Given the description of an element on the screen output the (x, y) to click on. 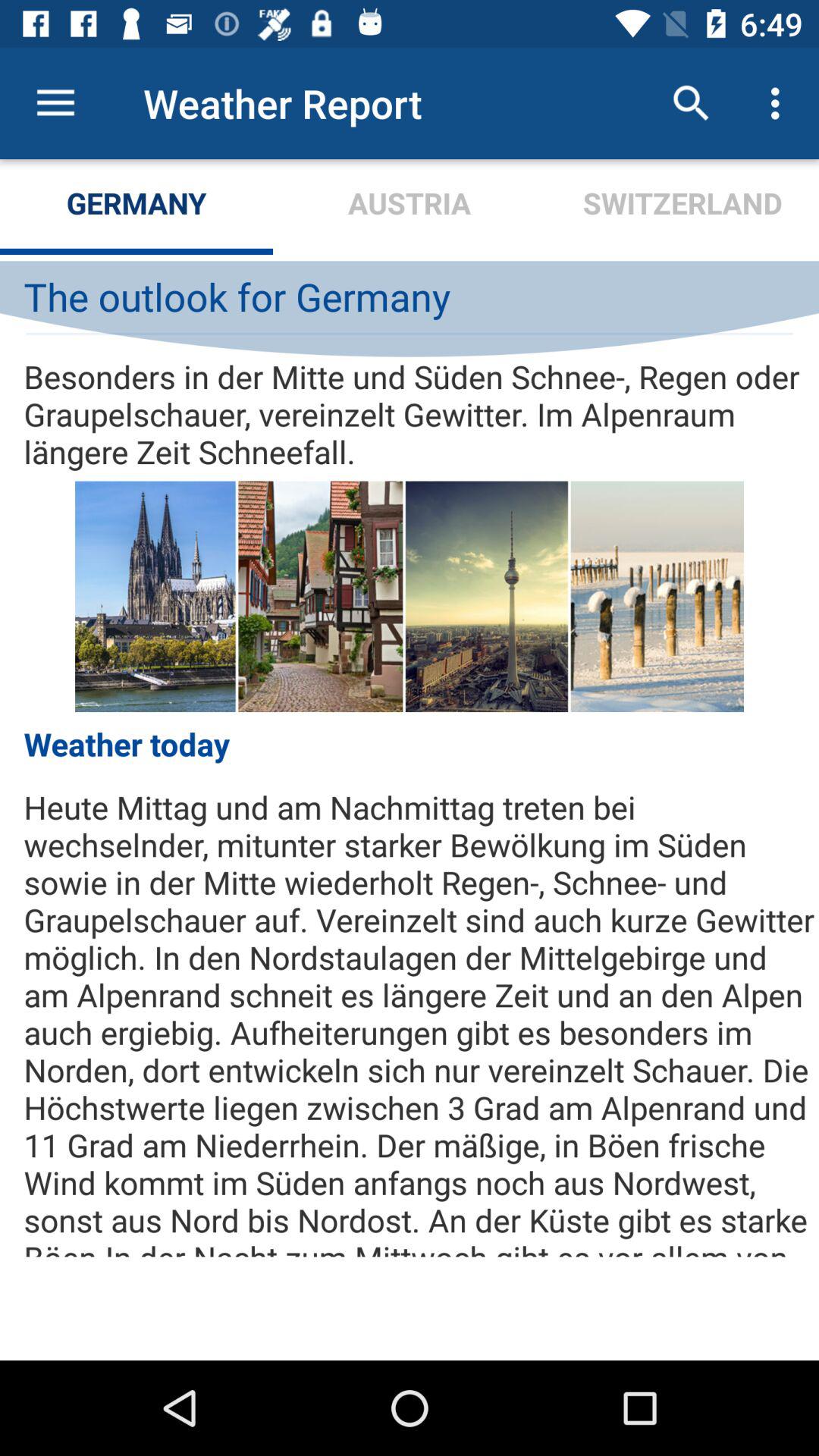
turn on icon to the right of the austria (691, 103)
